Given the description of an element on the screen output the (x, y) to click on. 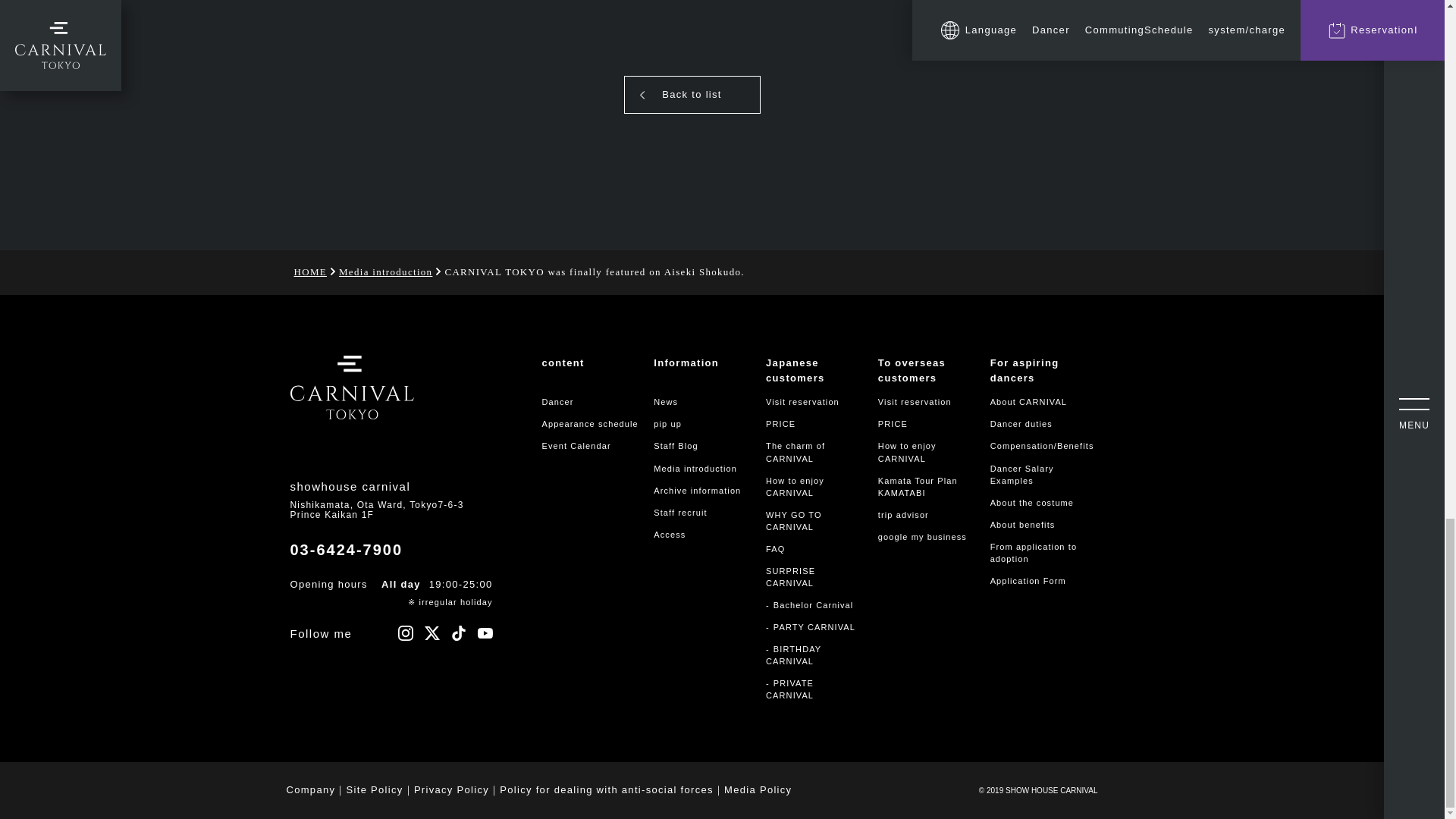
X (432, 632)
X (432, 632)
Dancer (557, 401)
HOME (310, 272)
Back to list (691, 94)
YouTube (485, 632)
03-6424-7900 (346, 549)
Instagram (404, 632)
Event Calendar (575, 445)
Media introduction (385, 272)
Appearance schedule (589, 423)
TikTok (457, 632)
YouTube (485, 632)
TikTok (457, 632)
Instagram (404, 632)
